Given the description of an element on the screen output the (x, y) to click on. 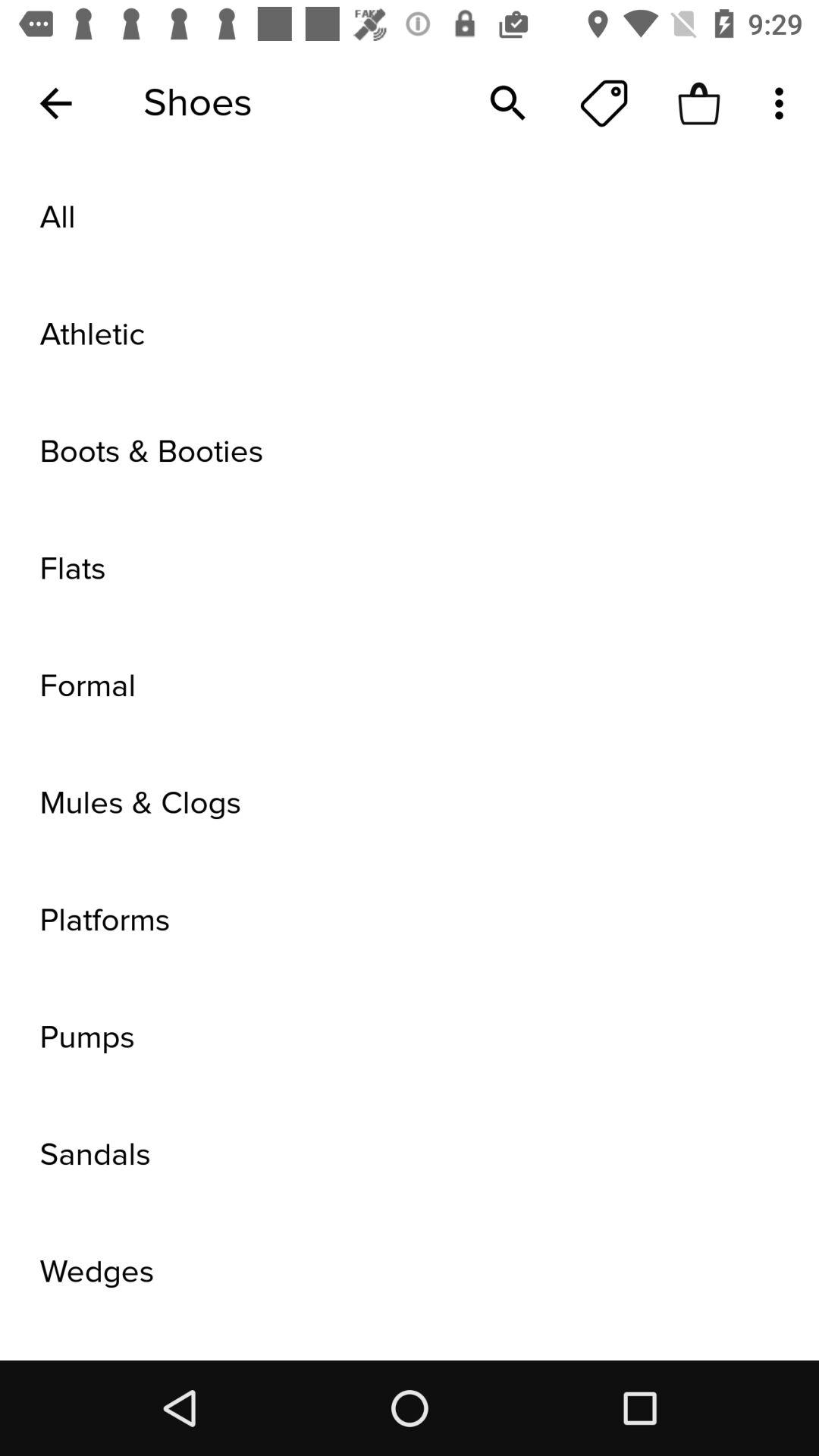
launch the icon to the right of the shoes icon (508, 103)
